Given the description of an element on the screen output the (x, y) to click on. 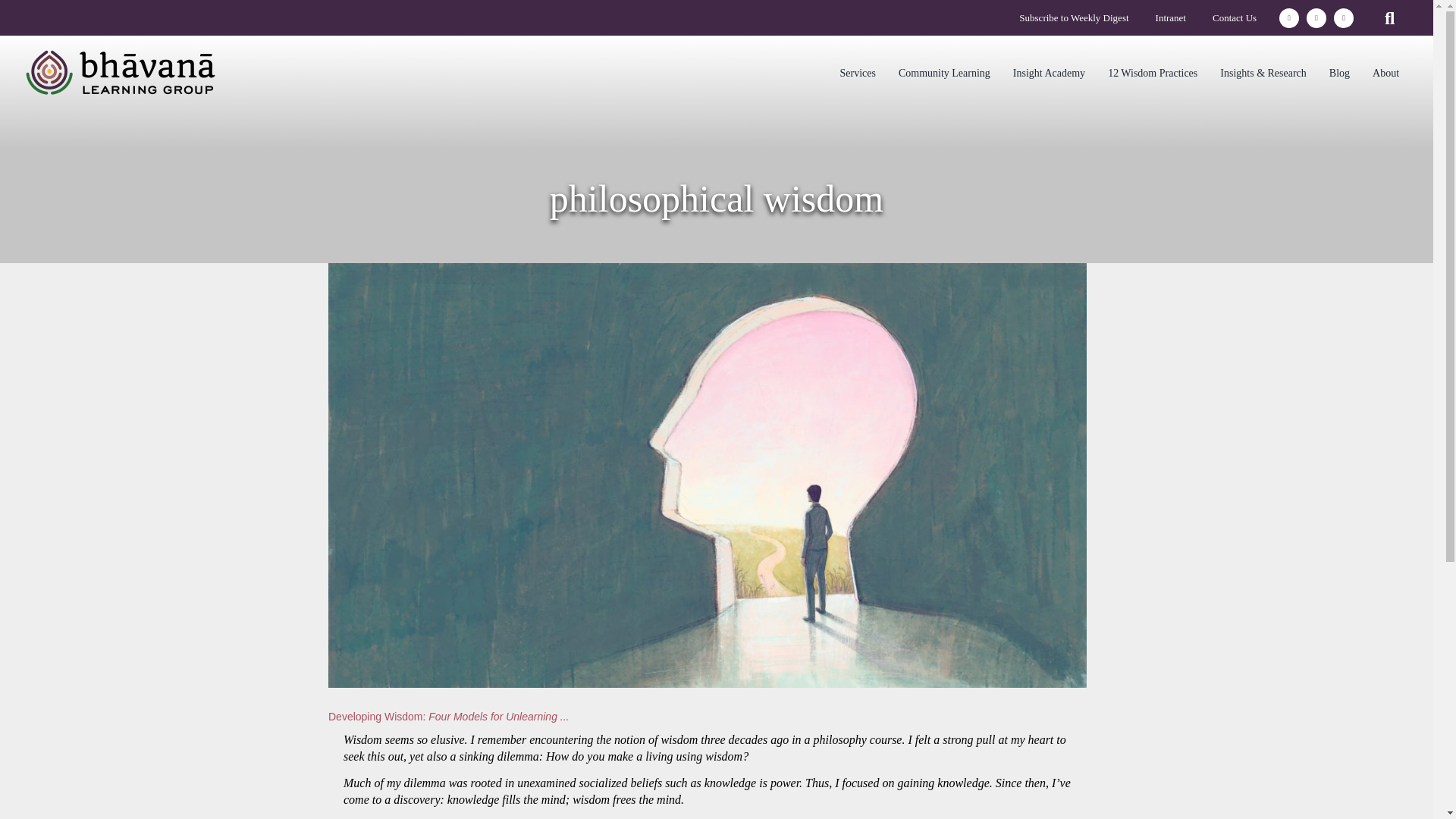
LinkedIn (1316, 17)
YouTube (1343, 17)
Subscribe to Weekly Digest (1073, 19)
Facebook (1288, 17)
Developing Wisdom: Four Models for Unlearning ... (449, 716)
Community Learning (943, 73)
Intranet (1170, 19)
Contact Us (1234, 19)
12 Wisdom Practices (1152, 73)
Insight Academy (1048, 73)
